Given the description of an element on the screen output the (x, y) to click on. 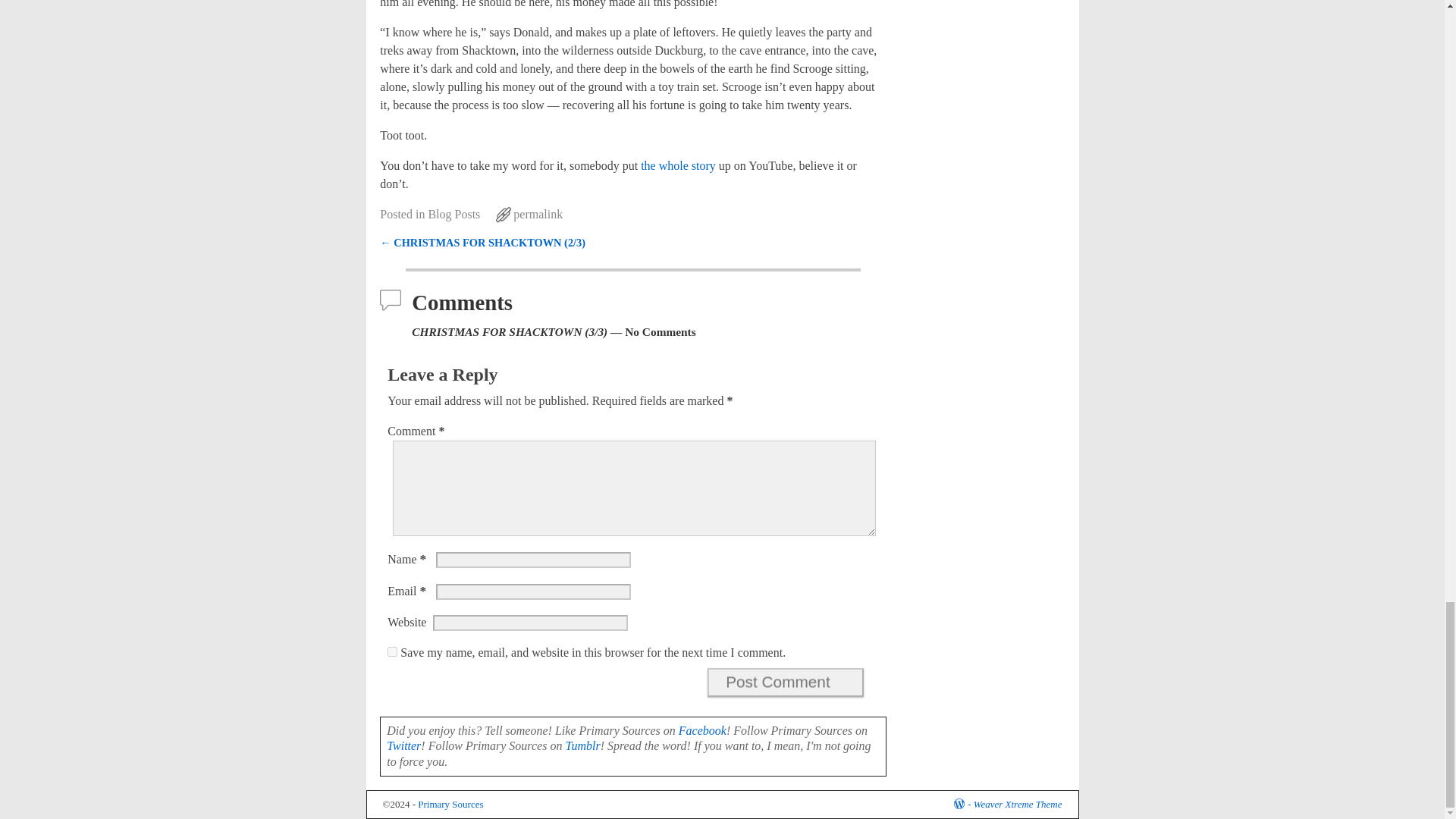
the whole story (678, 164)
Blog Posts (454, 214)
Proudly powered by WordPress (963, 803)
Twitter (403, 745)
Post Comment (785, 682)
Weaver Xtreme Theme (1018, 803)
Post Comment (785, 682)
permalink (537, 214)
yes (392, 651)
Facebook (702, 730)
